Given the description of an element on the screen output the (x, y) to click on. 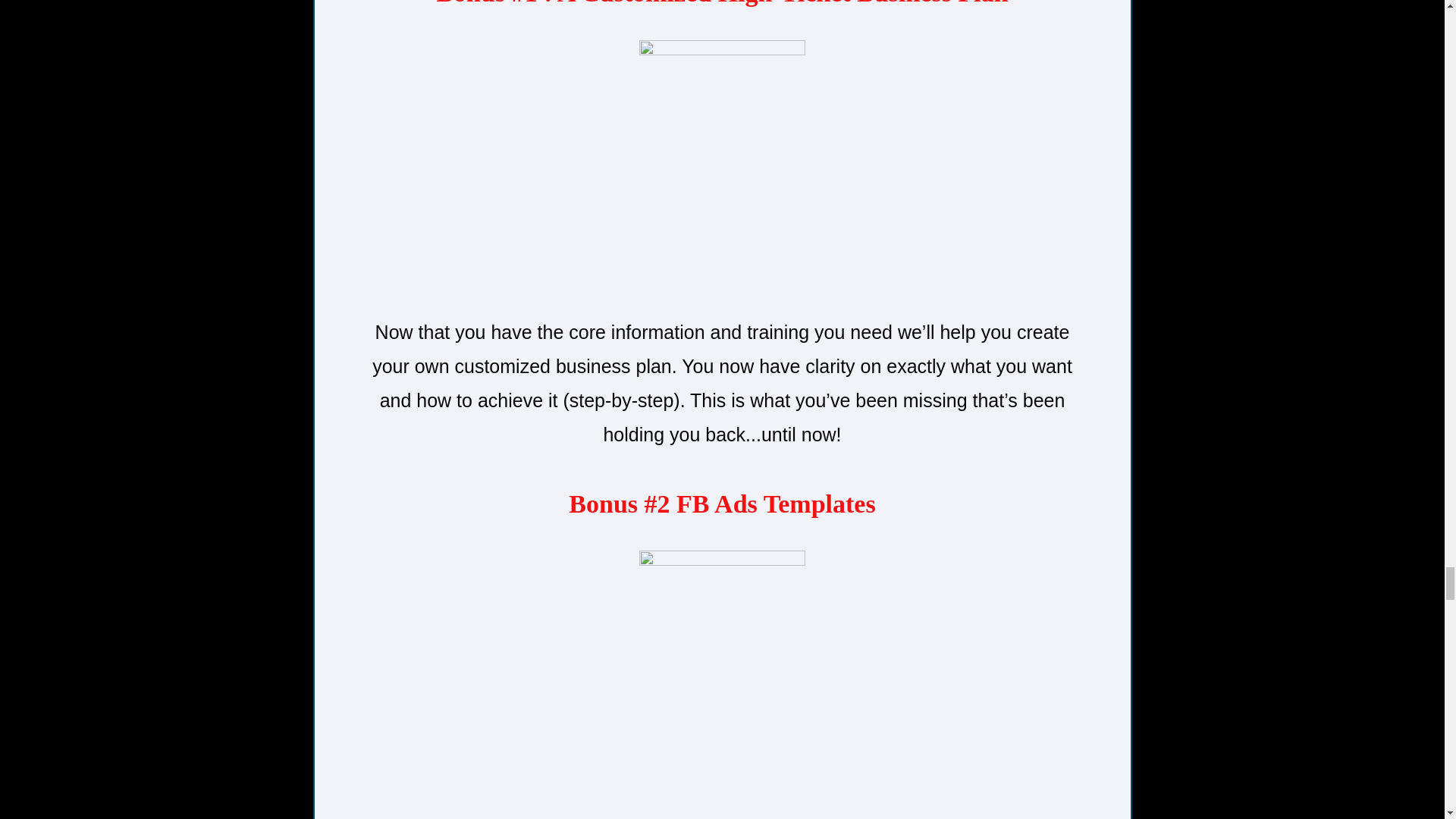
high-ticket (722, 169)
ad templates (722, 679)
